Given the description of an element on the screen output the (x, y) to click on. 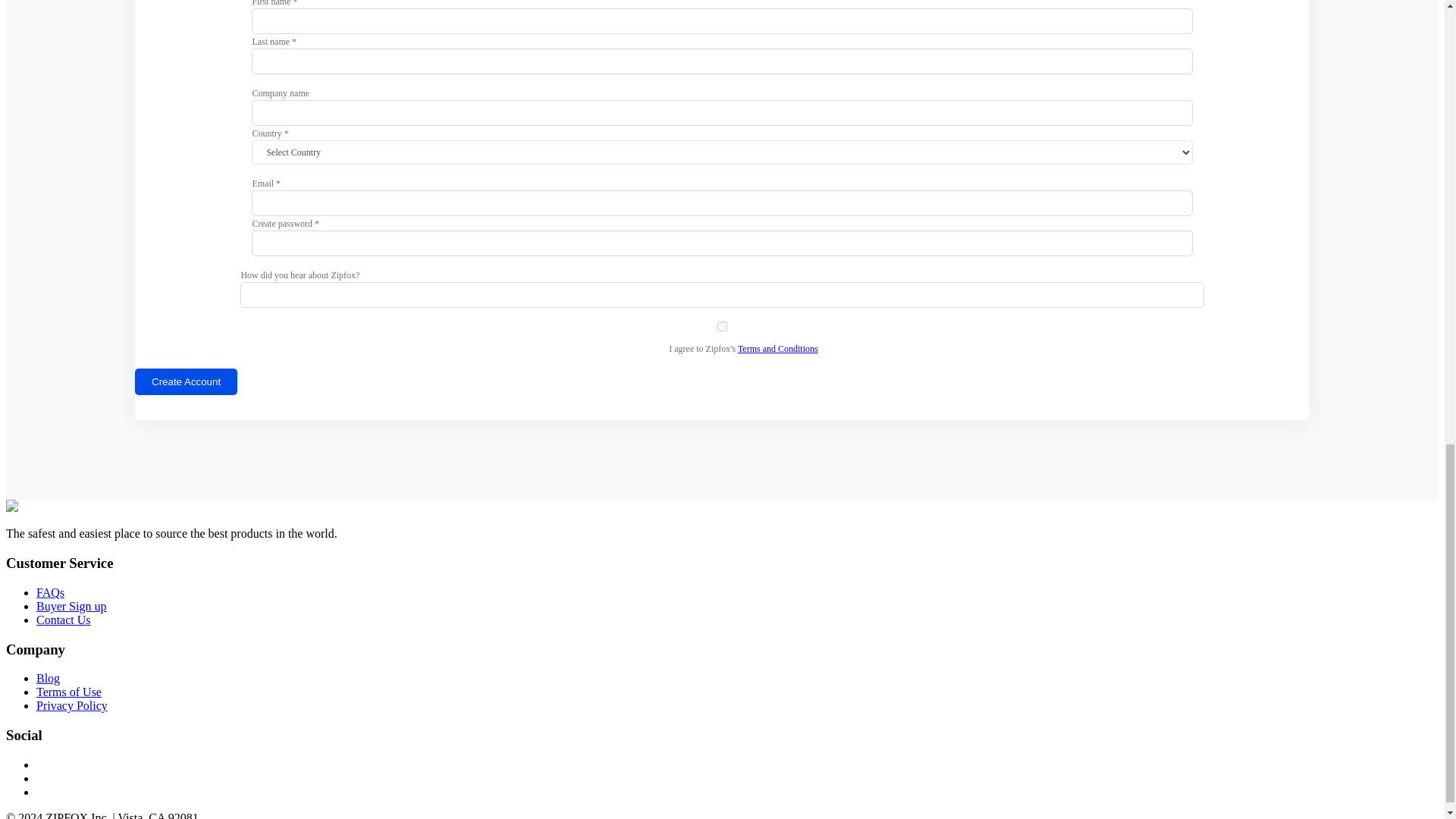
FAQs (50, 592)
Terms of Use (68, 691)
Contact Us (63, 619)
Privacy Policy (71, 705)
Terms and Conditions (778, 348)
Create Account (186, 381)
Blog (47, 677)
Buyer Sign up (71, 605)
on (721, 326)
